Given the description of an element on the screen output the (x, y) to click on. 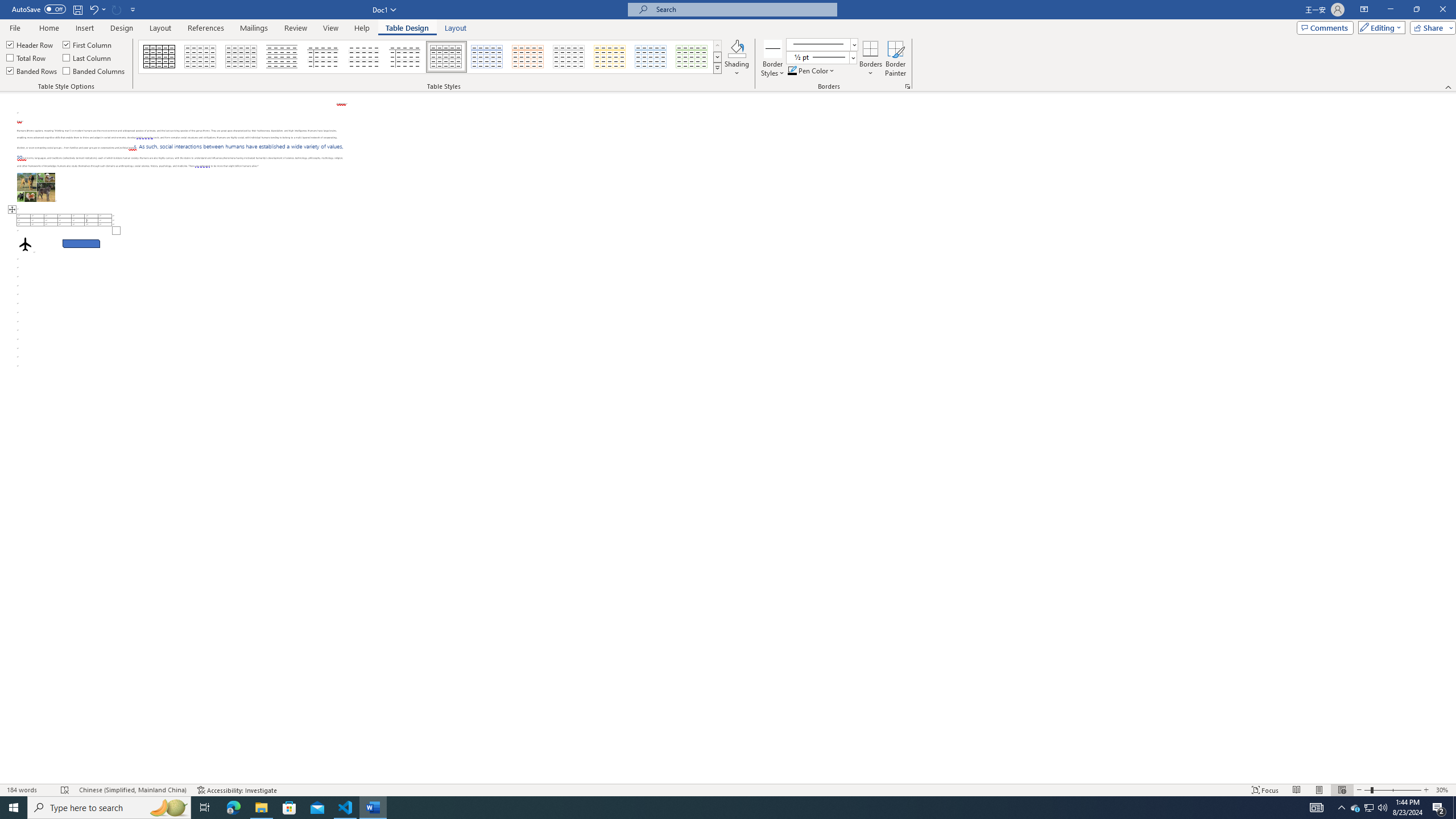
Language Chinese (Simplified, Mainland China) (132, 790)
Table Styles (717, 67)
Plain Table 2 (282, 56)
Total Row (26, 56)
Grid Table 1 Light - Accent 6 (691, 56)
Banded Rows (32, 69)
Pen Color RGB(0, 0, 0) (791, 69)
AutomationID: TableStylesGalleryWord (430, 56)
Shading RGB(0, 0, 0) (737, 48)
